Given the description of an element on the screen output the (x, y) to click on. 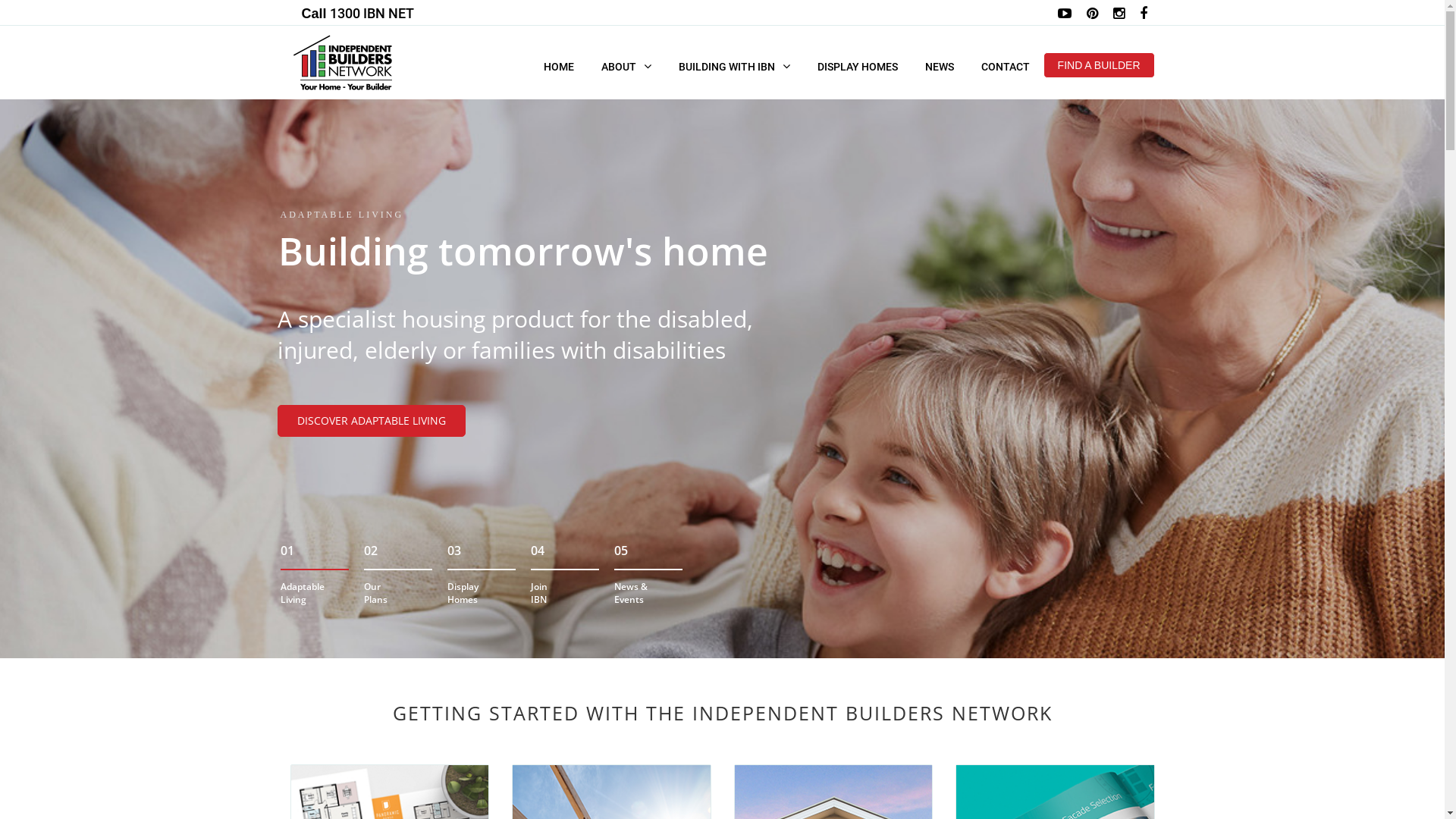
ABOUT Element type: text (626, 65)
DISCOVER ADAPTABLE LIVING Element type: text (371, 420)
NEWS Element type: text (939, 65)
HOME Element type: text (558, 65)
CONTACT Element type: text (1005, 65)
FIND A BUILDER Element type: text (1098, 65)
Call 1300 IBN NET Element type: text (361, 12)
BUILDING WITH IBN Element type: text (734, 65)
DISPLAY HOMES Element type: text (857, 65)
